Given the description of an element on the screen output the (x, y) to click on. 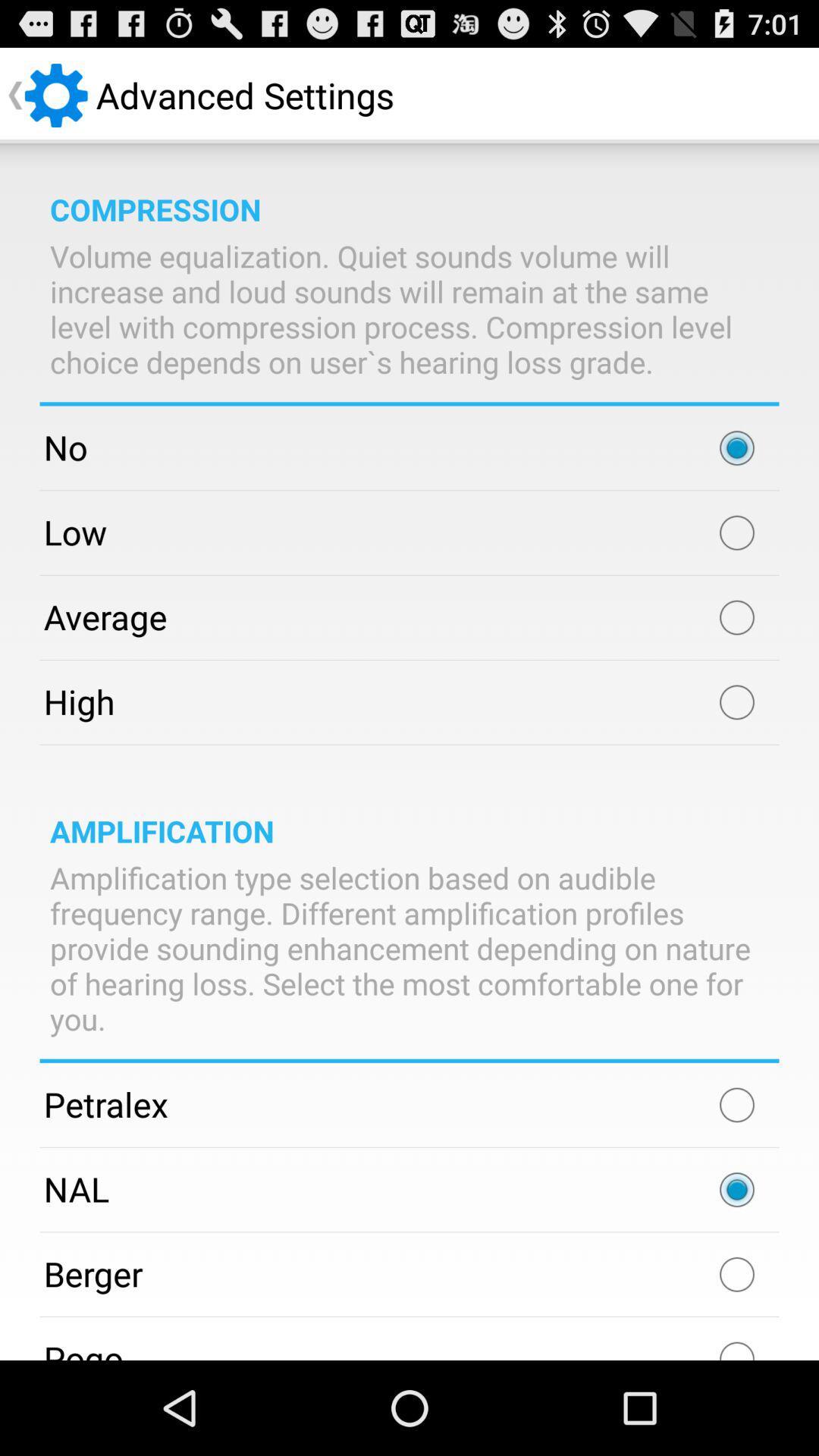
select option (736, 1189)
